Given the description of an element on the screen output the (x, y) to click on. 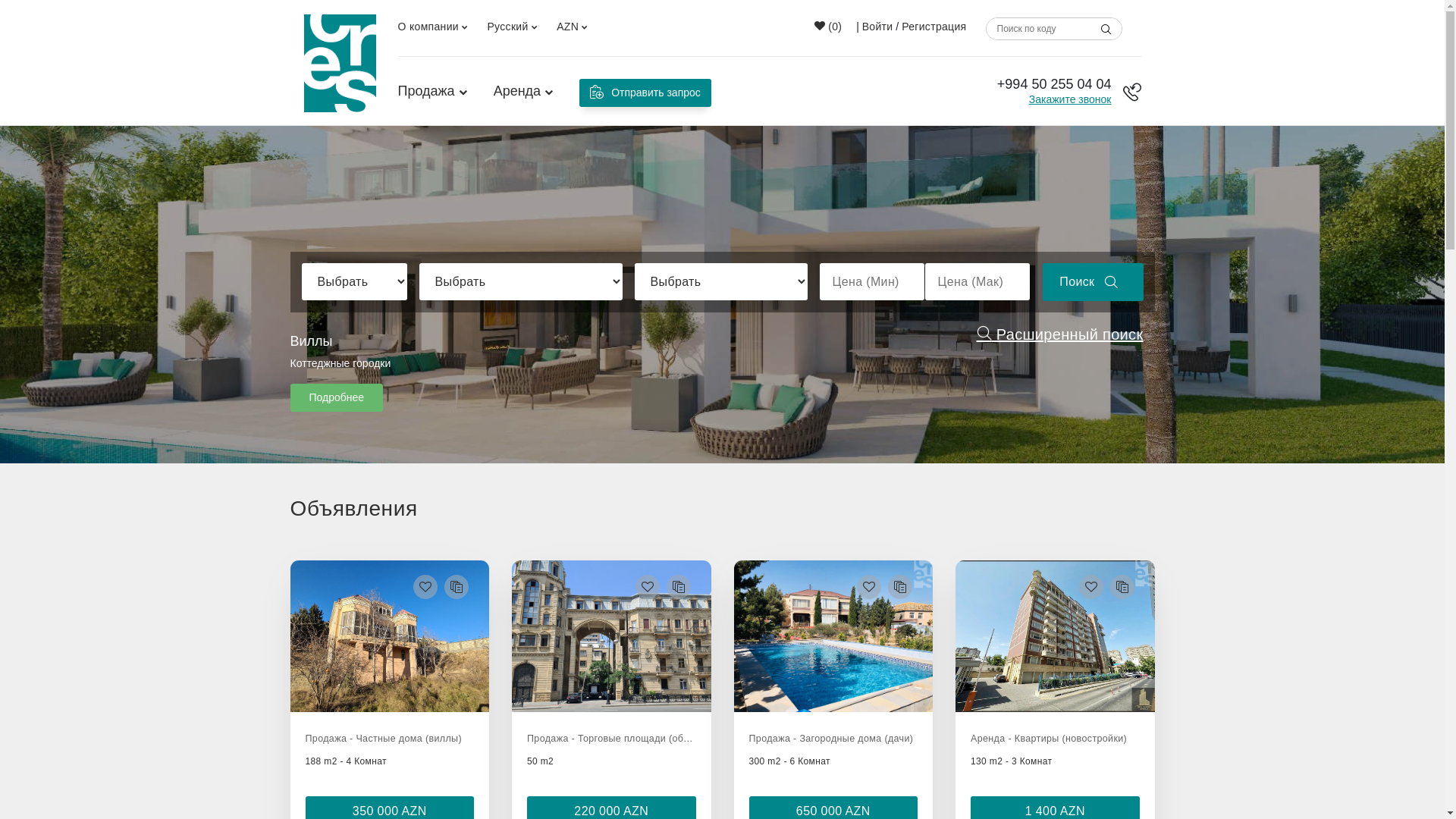
(0) Element type: text (828, 26)
